Given the description of an element on the screen output the (x, y) to click on. 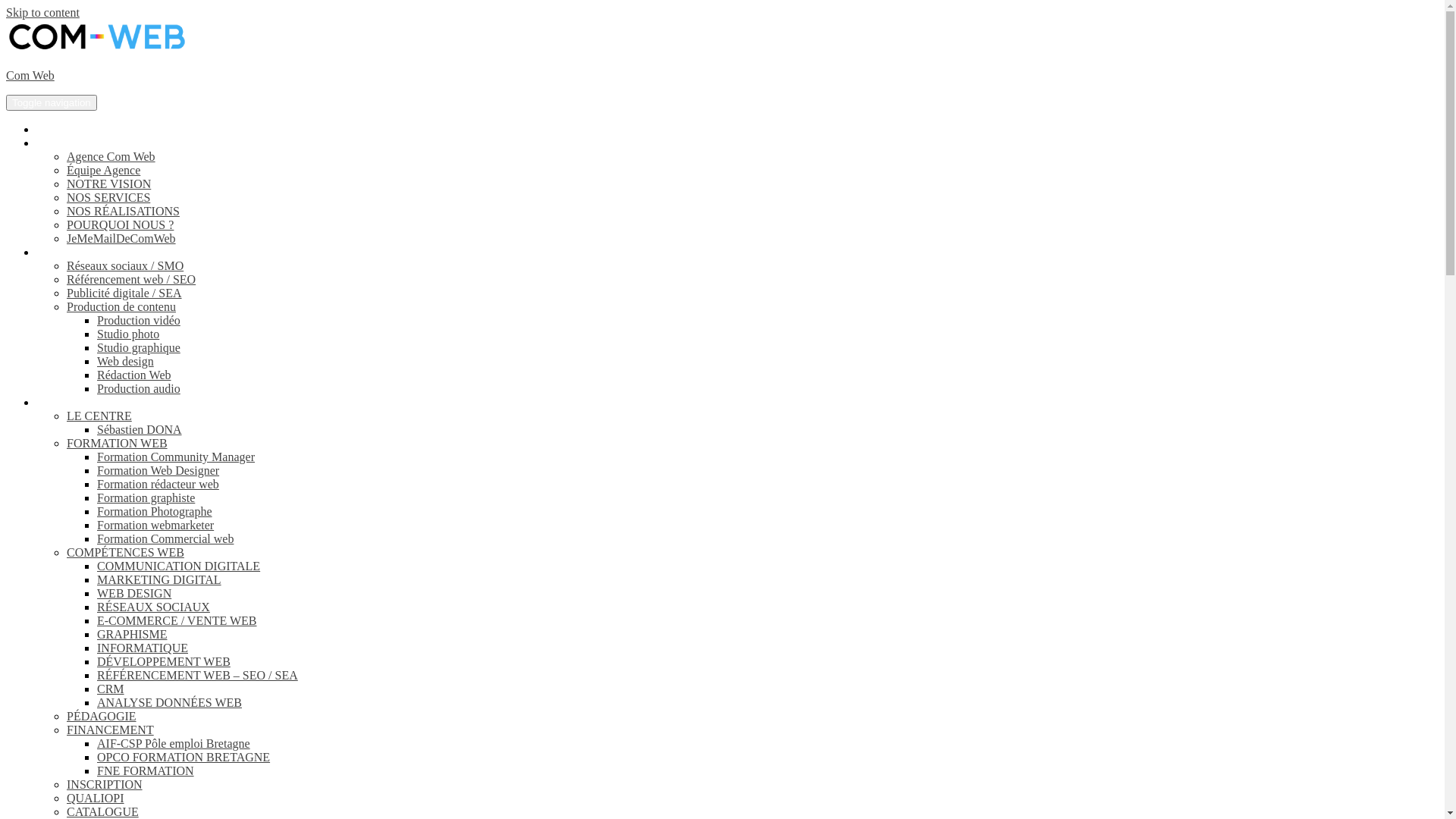
E-COMMERCE / VENTE WEB Element type: text (177, 620)
FNE FORMATION Element type: text (145, 770)
Agence Com Web Element type: text (110, 156)
WEB DESIGN Element type: text (134, 592)
Production audio Element type: text (138, 388)
Web design Element type: text (125, 360)
LE CENTRE Element type: text (98, 415)
POURQUOI NOUS ? Element type: text (119, 224)
CRM Element type: text (110, 688)
Formation graphiste Element type: text (145, 497)
Formation Web Designer Element type: text (158, 470)
Formation webmarketer Element type: text (155, 524)
QUALIOPI Element type: text (95, 797)
Com Web Element type: text (30, 75)
Toggle navigation Element type: text (51, 102)
Studio graphique Element type: text (138, 347)
INSCRIPTION Element type: text (104, 784)
NOS SERVICES Element type: text (108, 197)
Formation Community Manager Element type: text (175, 456)
Formation Commercial web Element type: text (165, 538)
FORMATION WEB Element type: text (116, 442)
FORMATIONS Element type: text (74, 401)
Studio photo Element type: text (128, 333)
GRAPHISME Element type: text (131, 633)
Production de contenu Element type: text (120, 306)
CATALOGUE Element type: text (102, 811)
JeMeMailDeComWeb Element type: text (120, 238)
COMMUNICATION DIGITALE Element type: text (178, 565)
OPCO FORMATION BRETAGNE Element type: text (183, 756)
ACCUEIL Element type: text (62, 128)
NOTRE VISION Element type: text (108, 183)
CW Element type: text (46, 142)
SERVICES Element type: text (64, 251)
FINANCEMENT Element type: text (109, 729)
INFORMATIQUE Element type: text (142, 647)
MARKETING DIGITAL Element type: text (159, 579)
Formation Photographe Element type: text (154, 511)
Skip to content Element type: text (42, 12)
